Given the description of an element on the screen output the (x, y) to click on. 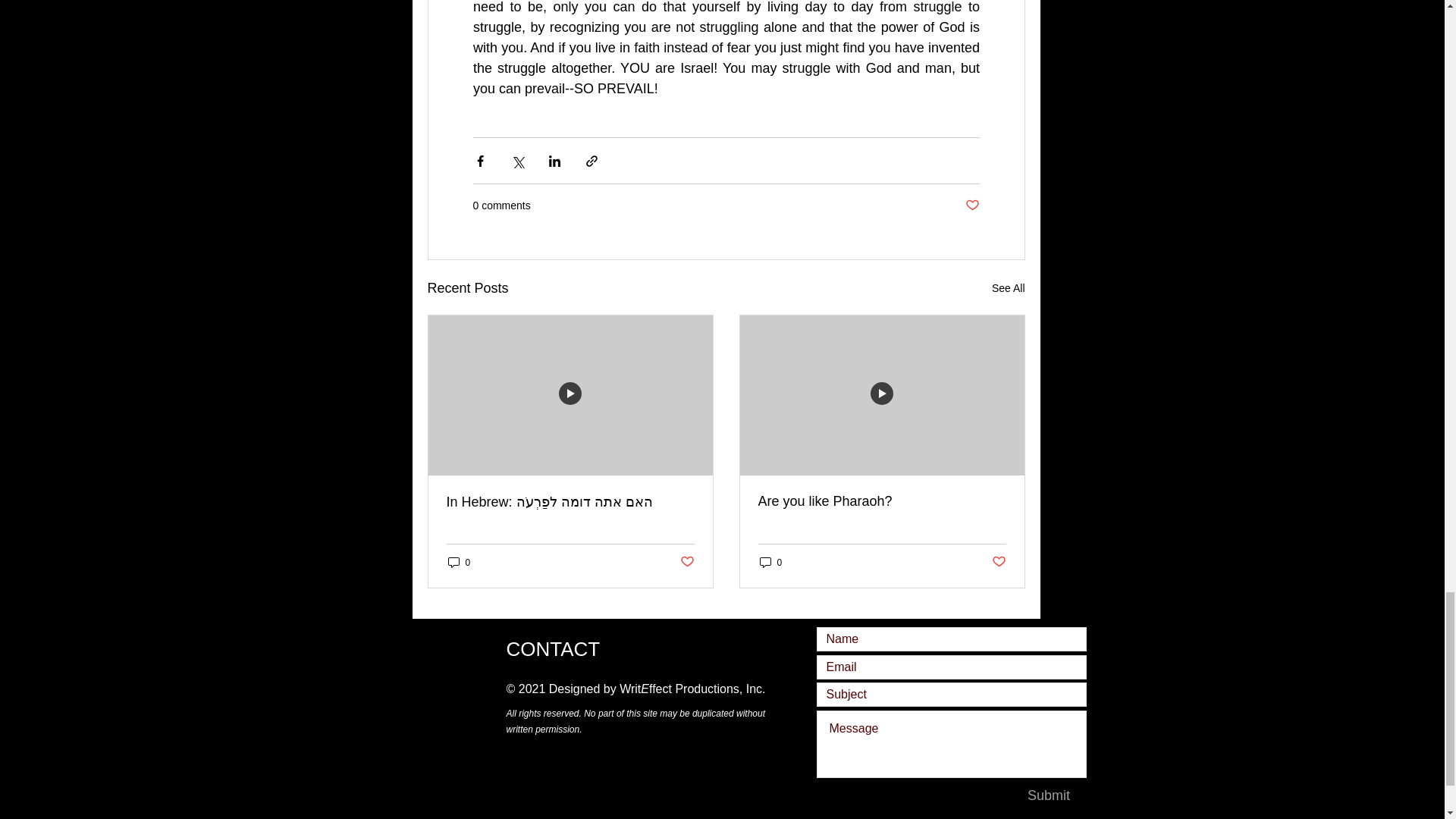
Post not marked as liked (998, 562)
Post not marked as liked (970, 205)
0 (458, 562)
See All (1008, 288)
0 (771, 562)
Post not marked as liked (686, 562)
Submit (1048, 795)
Are you like Pharaoh? (882, 501)
